Given the description of an element on the screen output the (x, y) to click on. 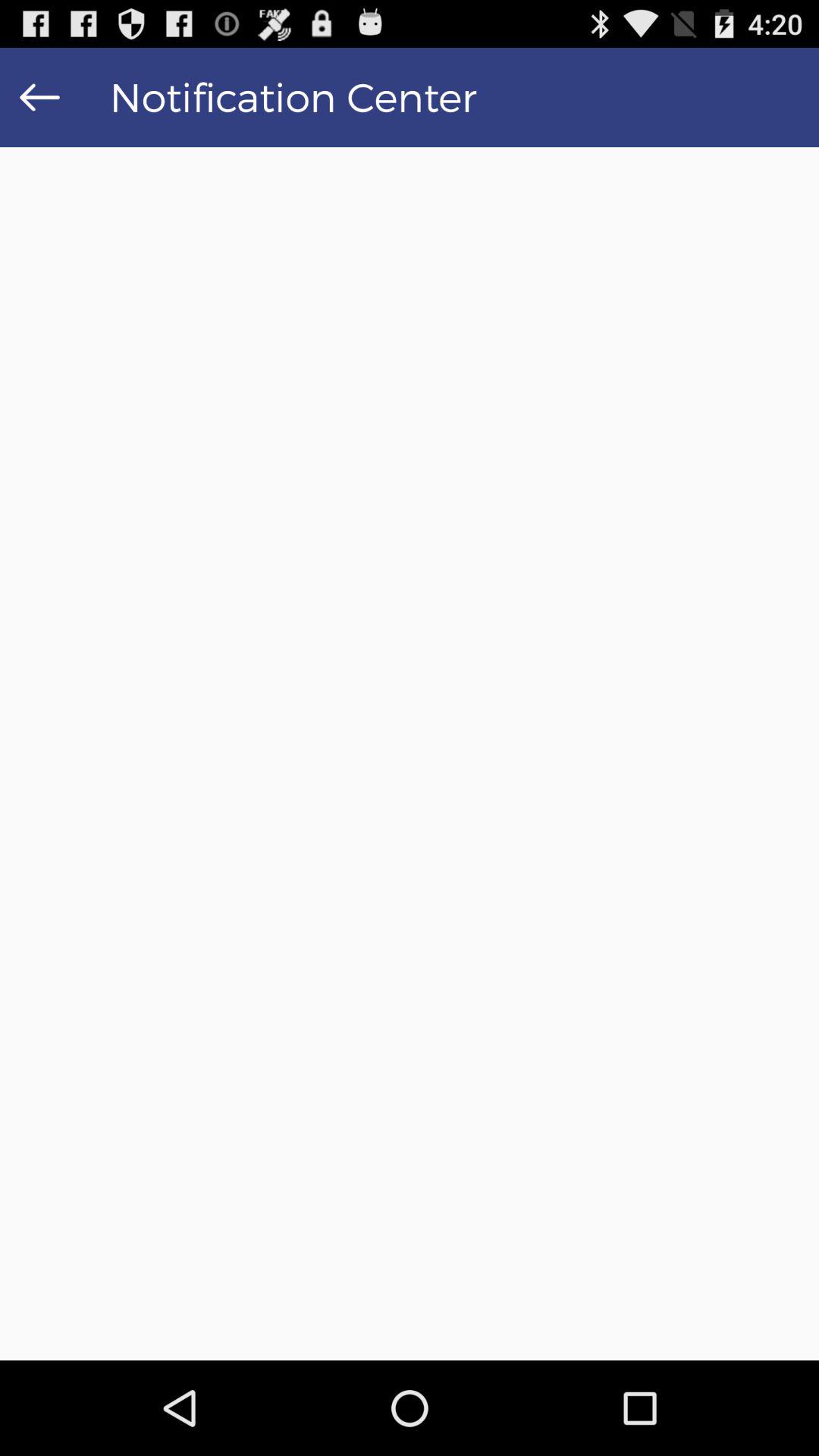
select item at the center (409, 753)
